Given the description of an element on the screen output the (x, y) to click on. 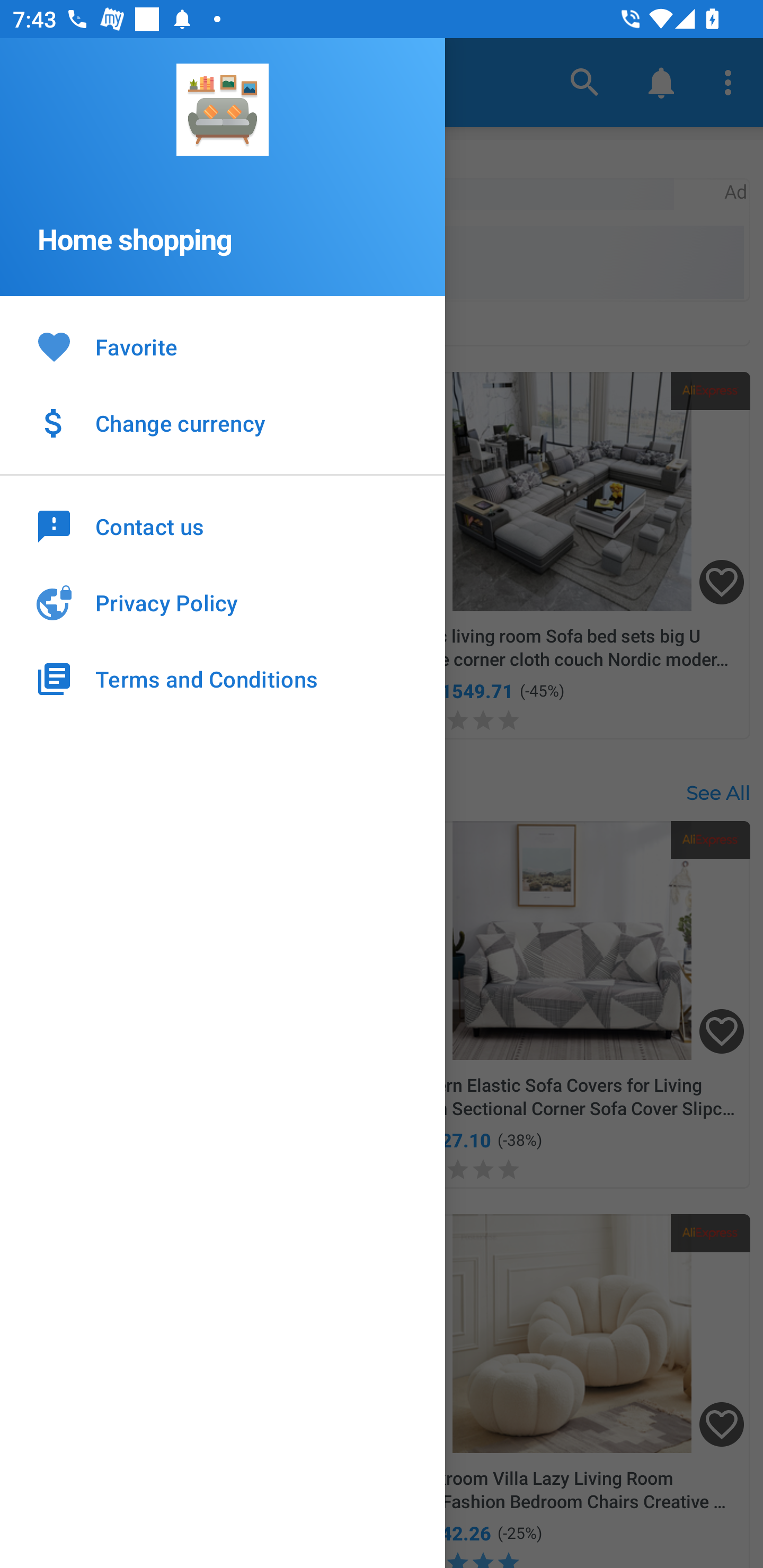
Favorite (222, 346)
Change currency (222, 422)
Contact us (222, 525)
Privacy Policy (222, 602)
Terms and Conditions (222, 678)
